Given the description of an element on the screen output the (x, y) to click on. 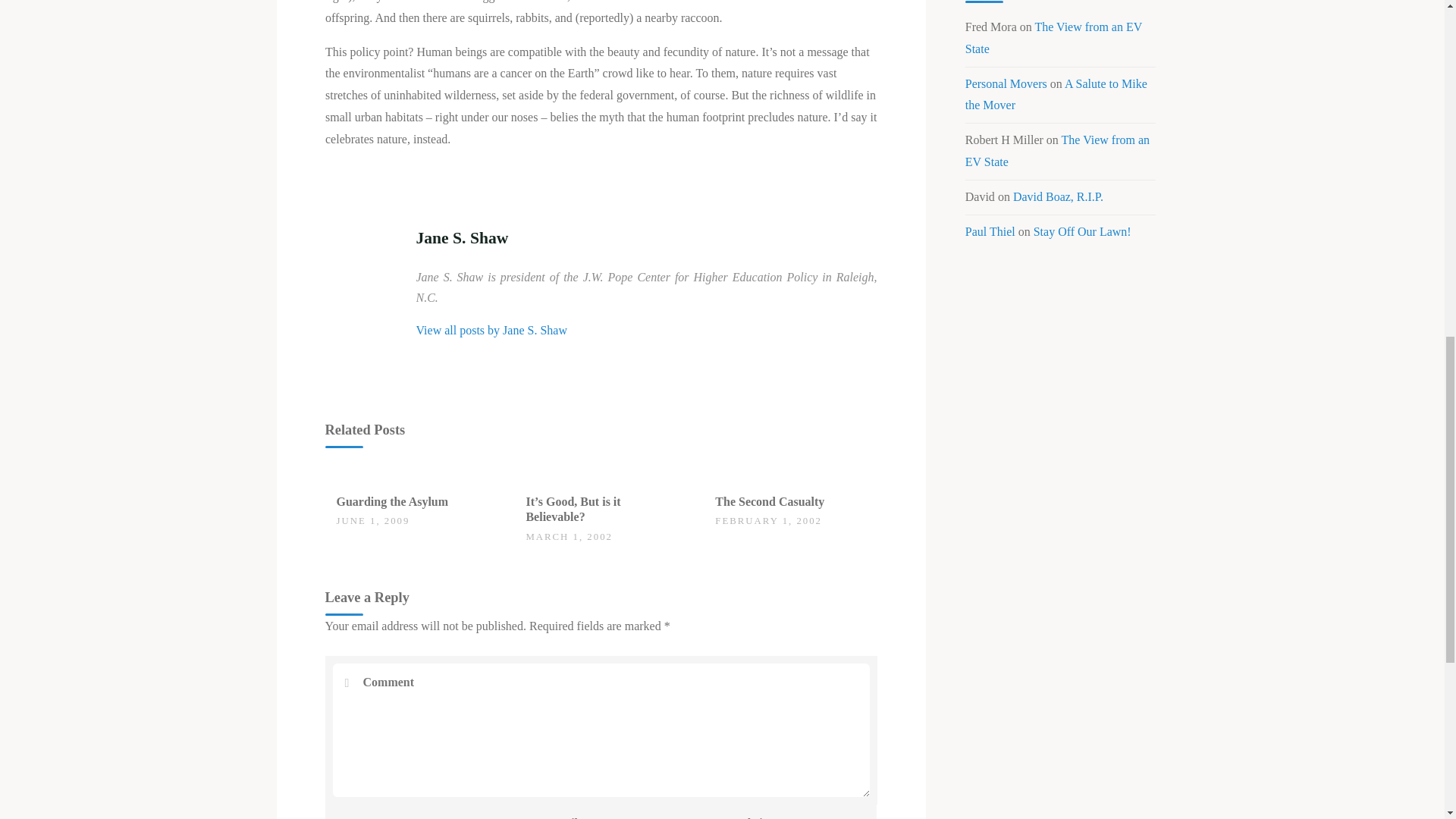
View all posts by Jane S. Shaw (490, 329)
Guarding the Asylum (392, 501)
Page 17 (600, 95)
0 (344, 494)
Page 17 (600, 75)
